Given the description of an element on the screen output the (x, y) to click on. 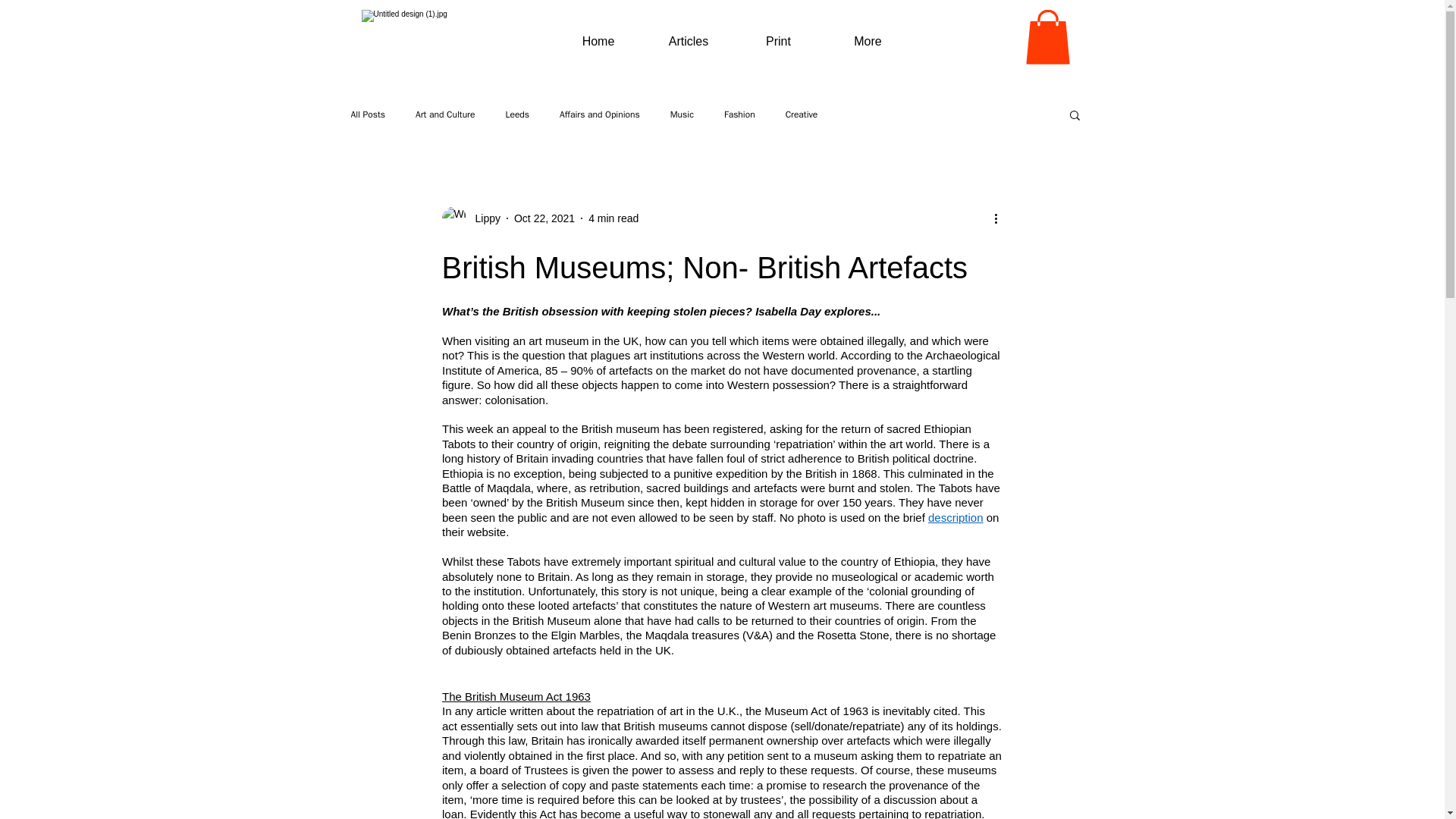
Music (681, 113)
Fashion (739, 113)
Affairs and Opinions (599, 113)
description (956, 517)
All Posts (367, 113)
Leeds (517, 113)
Creative (802, 113)
Lippy (482, 218)
Articles (688, 41)
Oct 22, 2021 (544, 218)
